Given the description of an element on the screen output the (x, y) to click on. 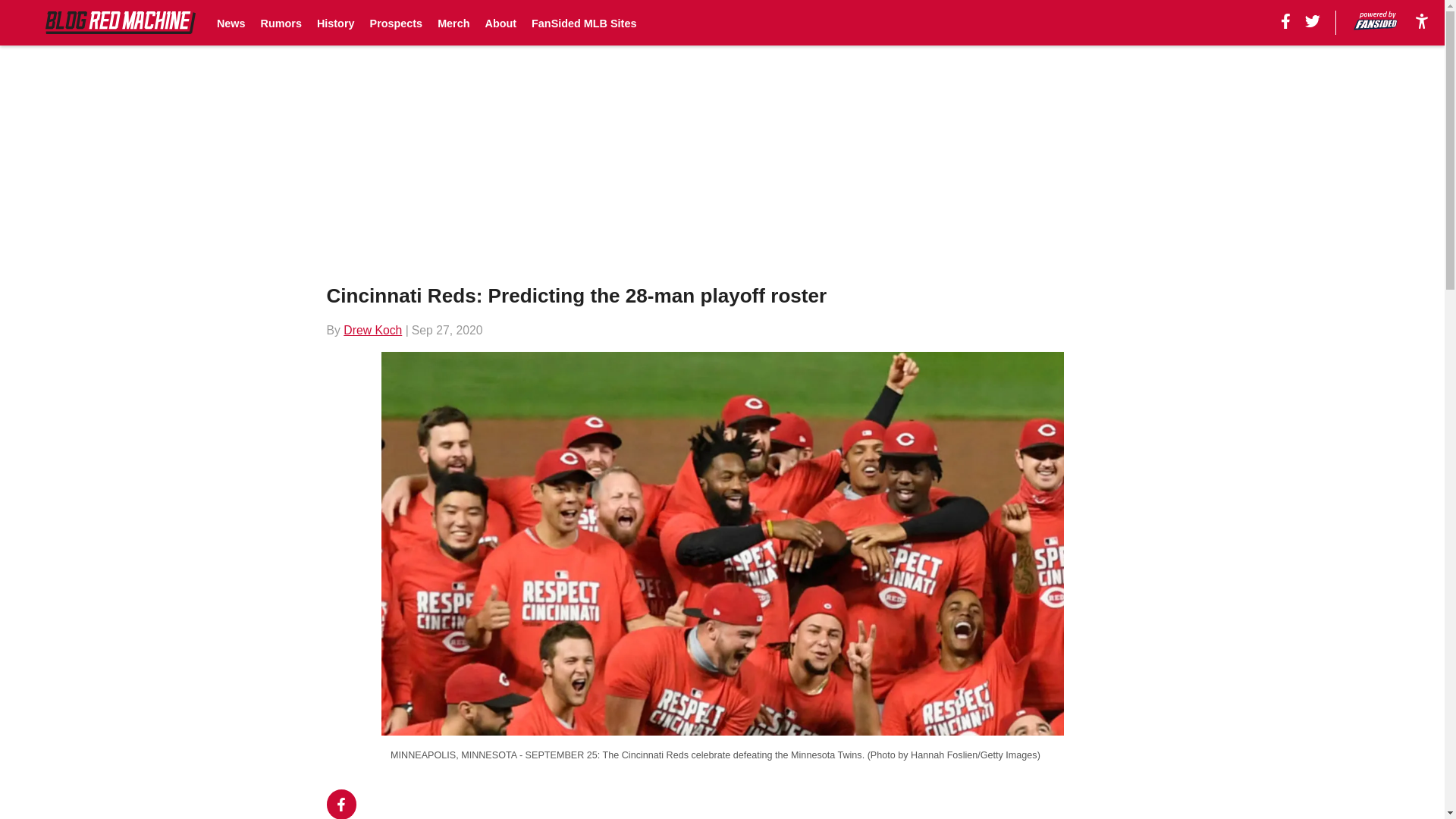
About (500, 23)
History (336, 23)
Drew Koch (372, 329)
FanSided MLB Sites (583, 23)
Prospects (396, 23)
Rumors (280, 23)
News (231, 23)
Merch (453, 23)
